Given the description of an element on the screen output the (x, y) to click on. 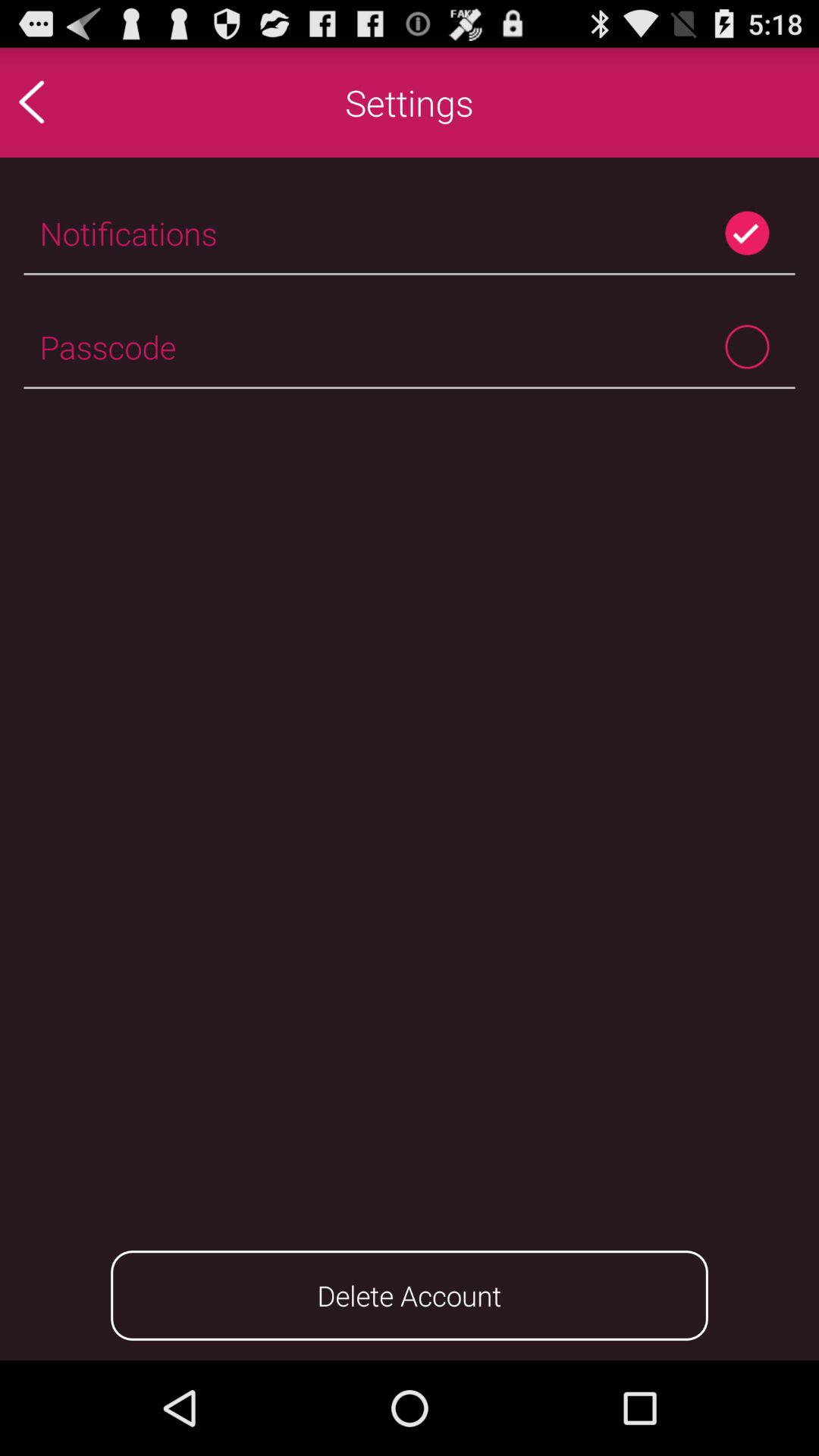
launch icon to the right of the passcode icon (747, 346)
